Given the description of an element on the screen output the (x, y) to click on. 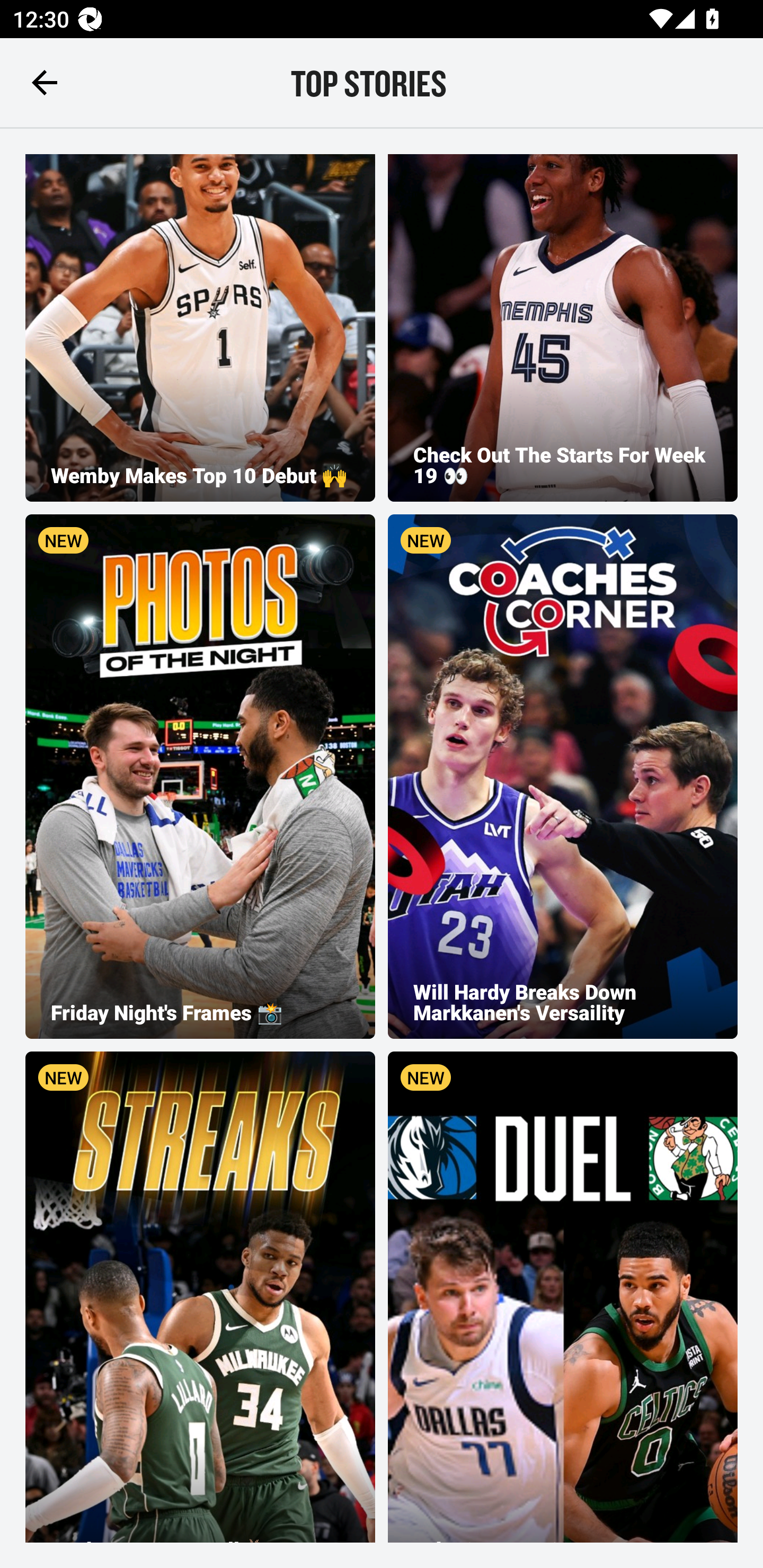
Navigate up (44, 82)
Wemby Makes Top 10 Debut 🙌 (200, 327)
Check Out The Starts For Week 19 👀 (562, 327)
NEW Friday Night's Frames 📸 (200, 776)
NEW Will Hardy Breaks Down Markkanen's Versaility (562, 776)
NEW Bucks Are On A Roll 🦌 (200, 1297)
NEW Luka & Tatum Go Toe-To-Toe (562, 1297)
